Given the description of an element on the screen output the (x, y) to click on. 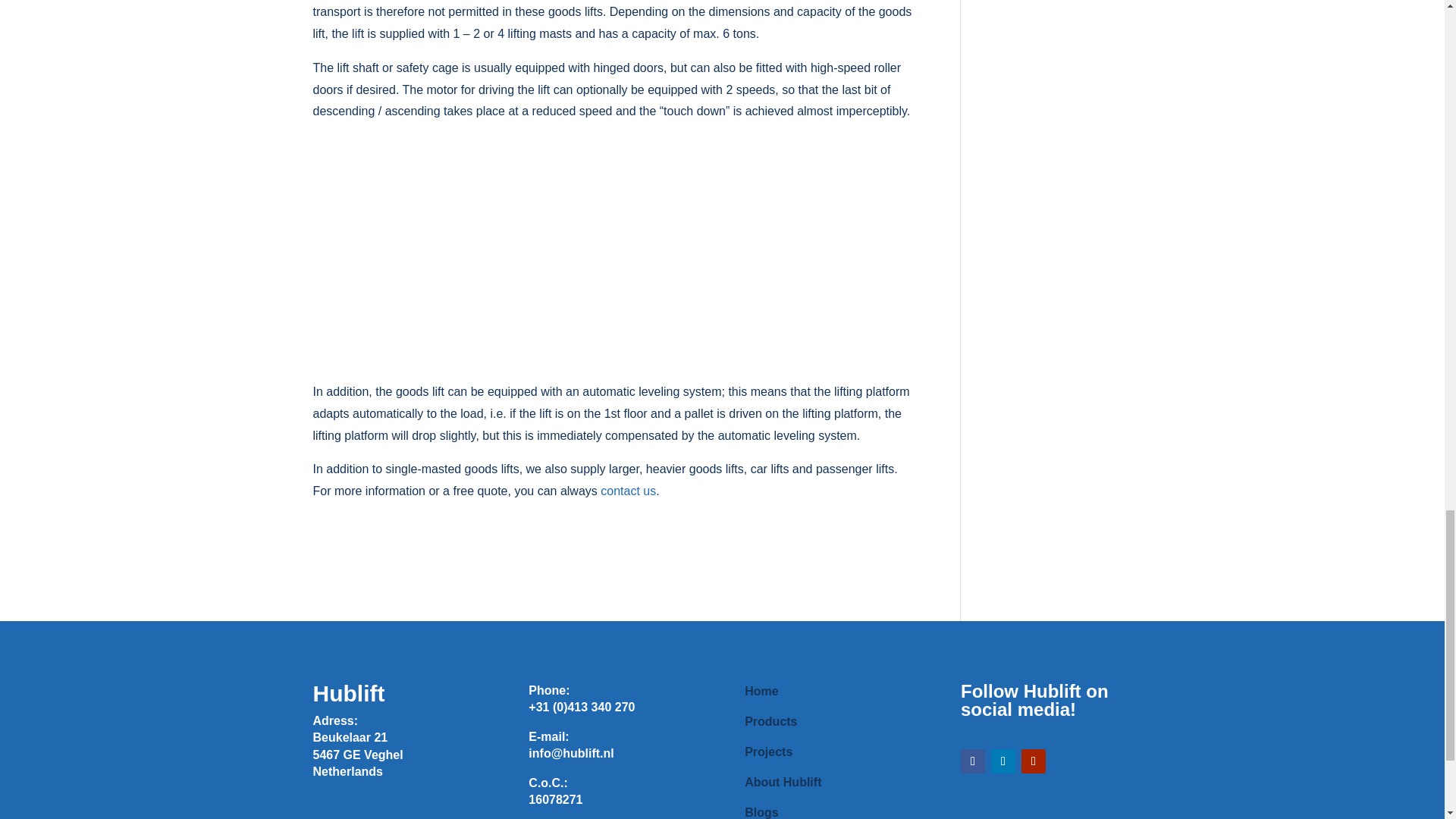
Follow on Youtube (1033, 761)
contact us (627, 490)
Follow on LinkedIn (1002, 761)
Logo-Hublift-white (372, 811)
Follow on Facebook (972, 761)
